Given the description of an element on the screen output the (x, y) to click on. 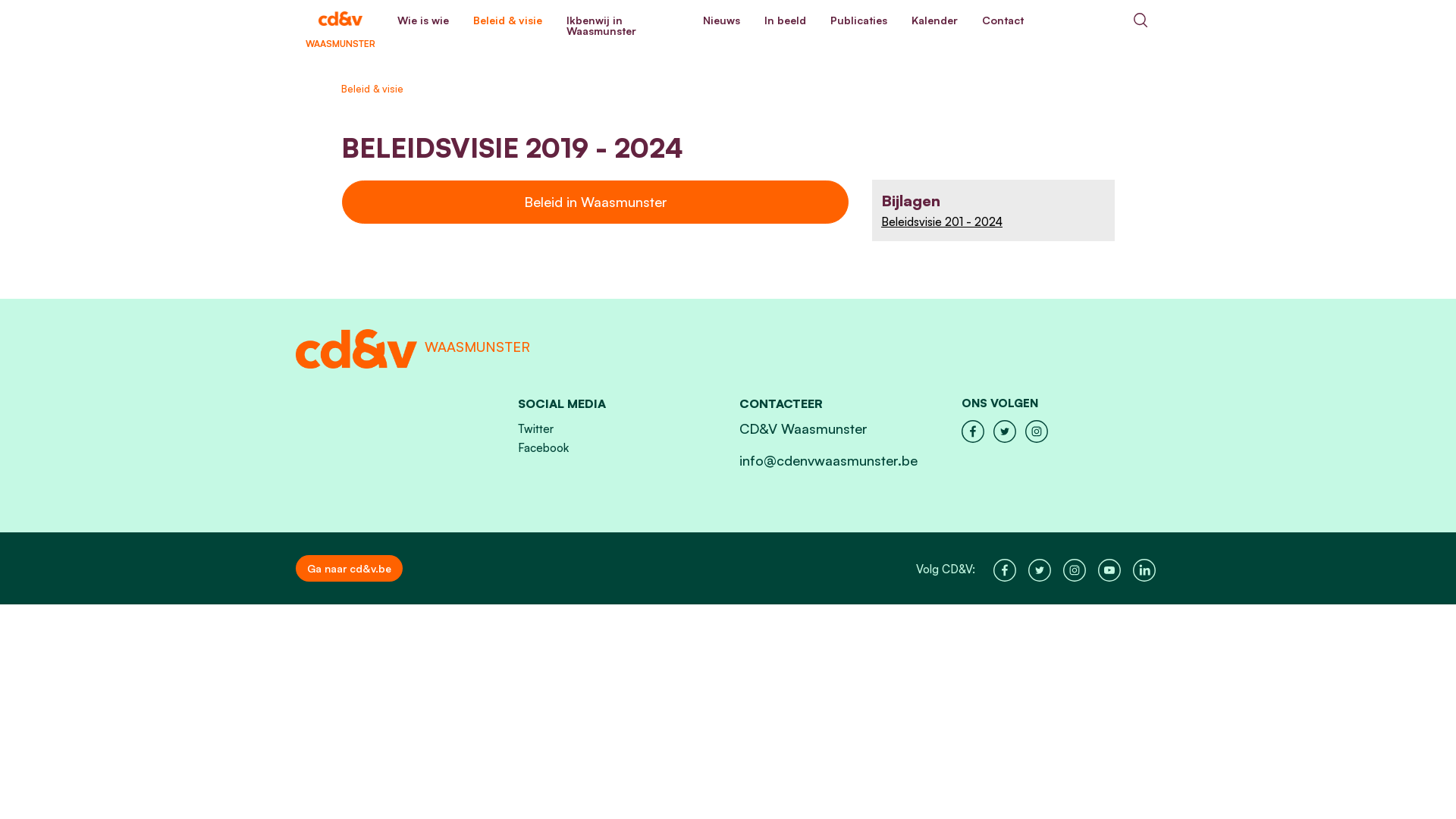
Contact Element type: text (1002, 20)
Beleidsvisie 201 - 2024 Element type: text (993, 221)
Beleid & visie Element type: text (507, 20)
Ga naar cd&v.be Element type: text (348, 568)
Nieuws Element type: text (721, 20)
Facebook Element type: text (542, 447)
Publicaties Element type: text (858, 20)
info@cdenvwaasmunster.be Element type: text (828, 459)
WAASMUNSTER Element type: text (340, 19)
Twitter Element type: text (534, 428)
Beleid in Waasmunster Element type: text (595, 201)
Ikbenwij in Waasmunster Element type: text (622, 25)
In beeld Element type: text (785, 20)
Kalender Element type: text (934, 20)
Search Element type: hover (1140, 19)
Wie is wie Element type: text (423, 20)
